Given the description of an element on the screen output the (x, y) to click on. 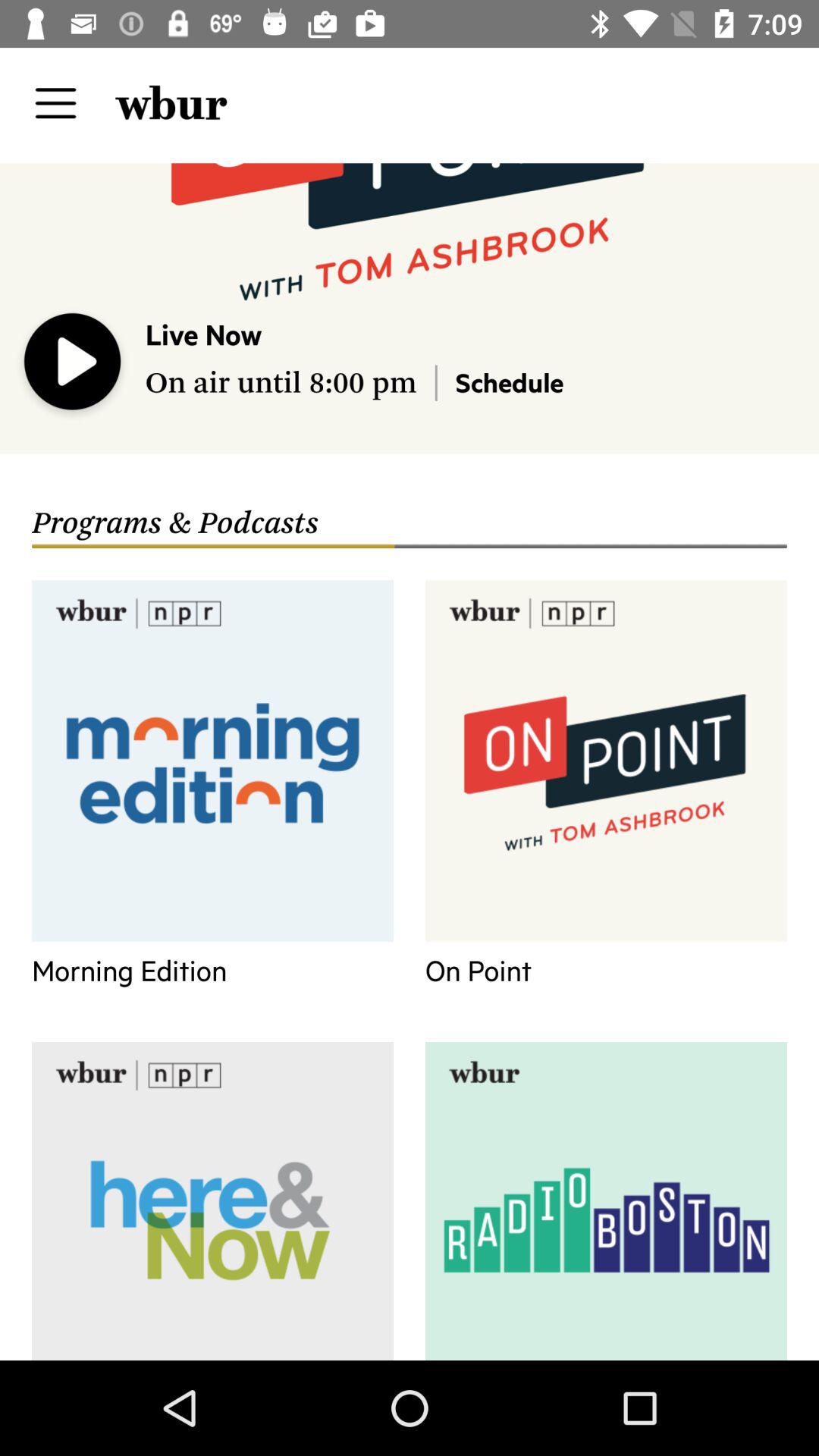
play selected podcast (72, 365)
